Given the description of an element on the screen output the (x, y) to click on. 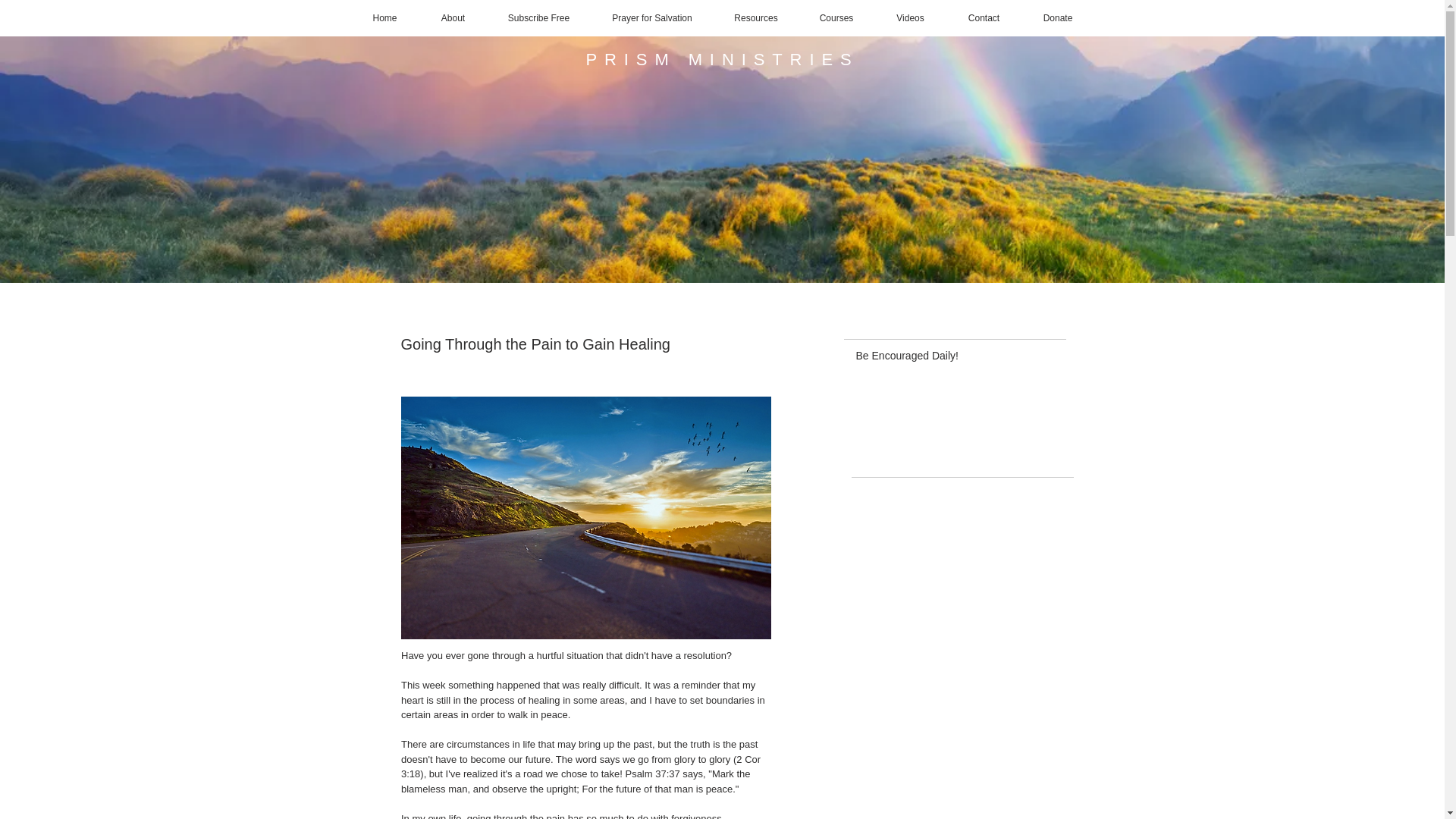
Home (384, 18)
Resources (755, 18)
About (452, 18)
Videos (910, 18)
Contact (984, 18)
Subscribe Free (537, 18)
Courses (836, 18)
Donate (1058, 18)
Prayer for Salvation (651, 18)
